Given the description of an element on the screen output the (x, y) to click on. 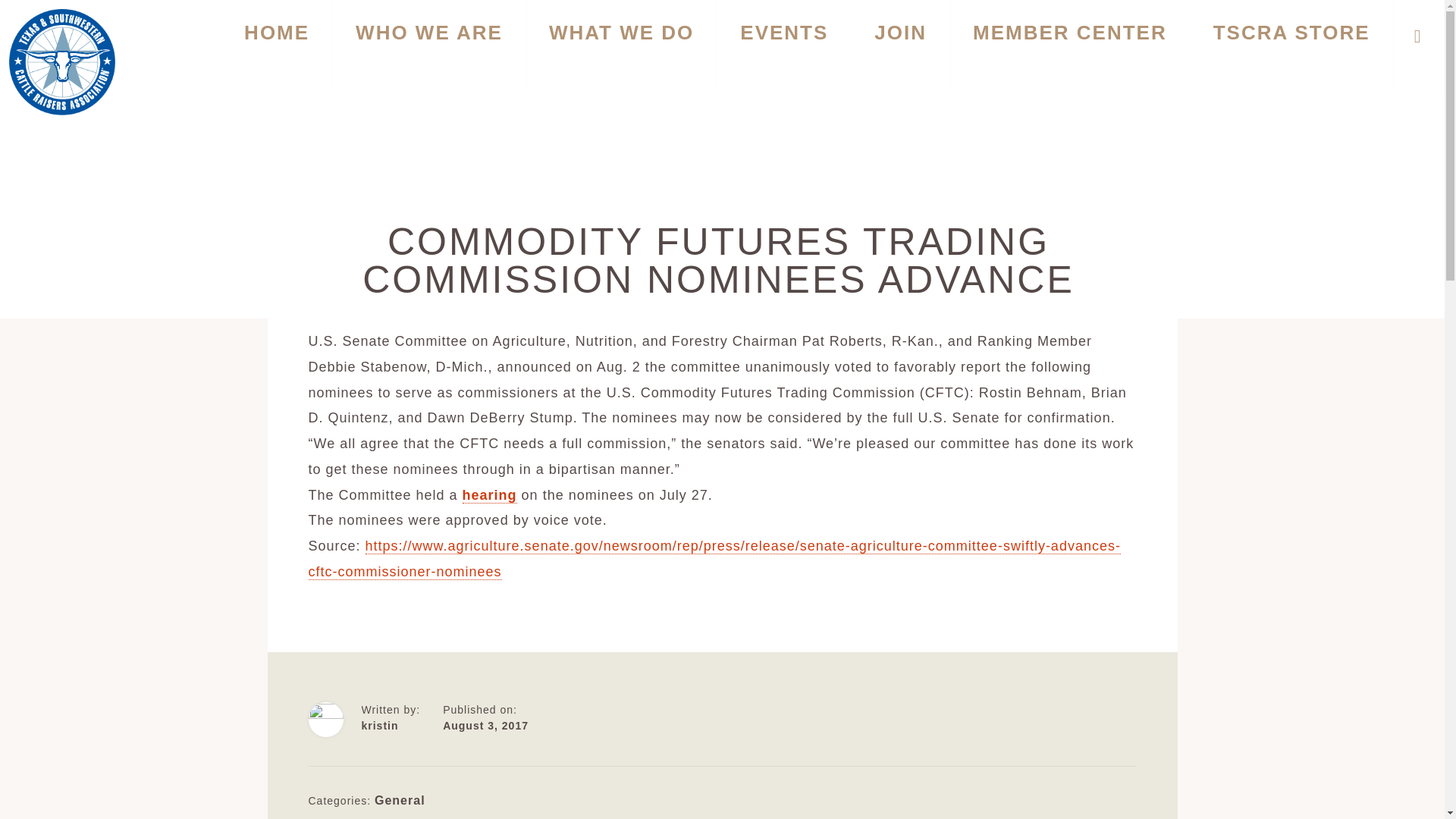
hearing (489, 494)
JOIN (900, 45)
HOME (276, 45)
EVENTS (783, 45)
MEMBER CENTER (1069, 45)
TSCRA STORE (1292, 45)
WHAT WE DO (620, 45)
WHO WE ARE (429, 45)
